Given the description of an element on the screen output the (x, y) to click on. 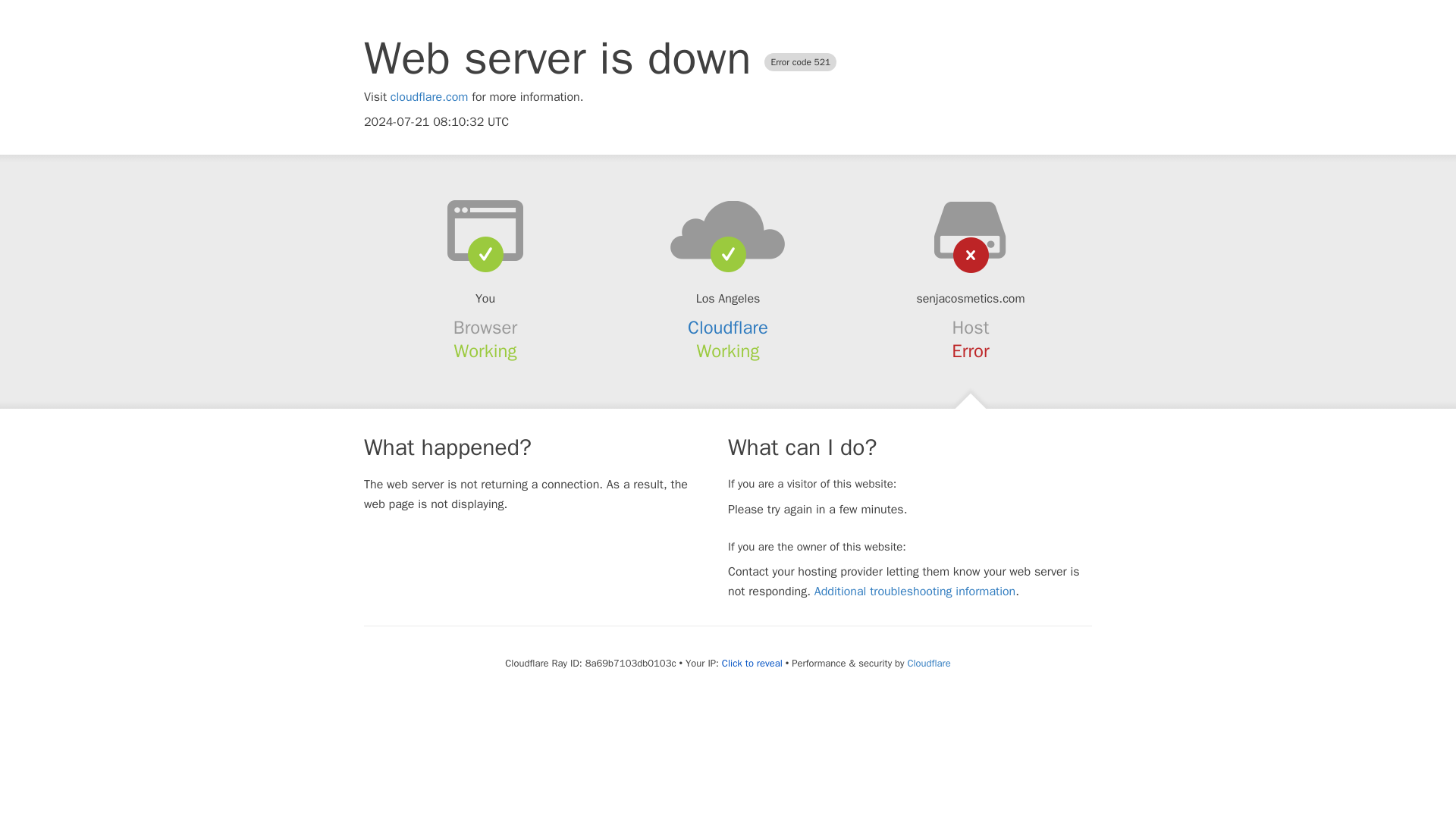
Cloudflare (727, 327)
Click to reveal (752, 663)
Cloudflare (928, 662)
Additional troubleshooting information (913, 590)
cloudflare.com (429, 96)
